Given the description of an element on the screen output the (x, y) to click on. 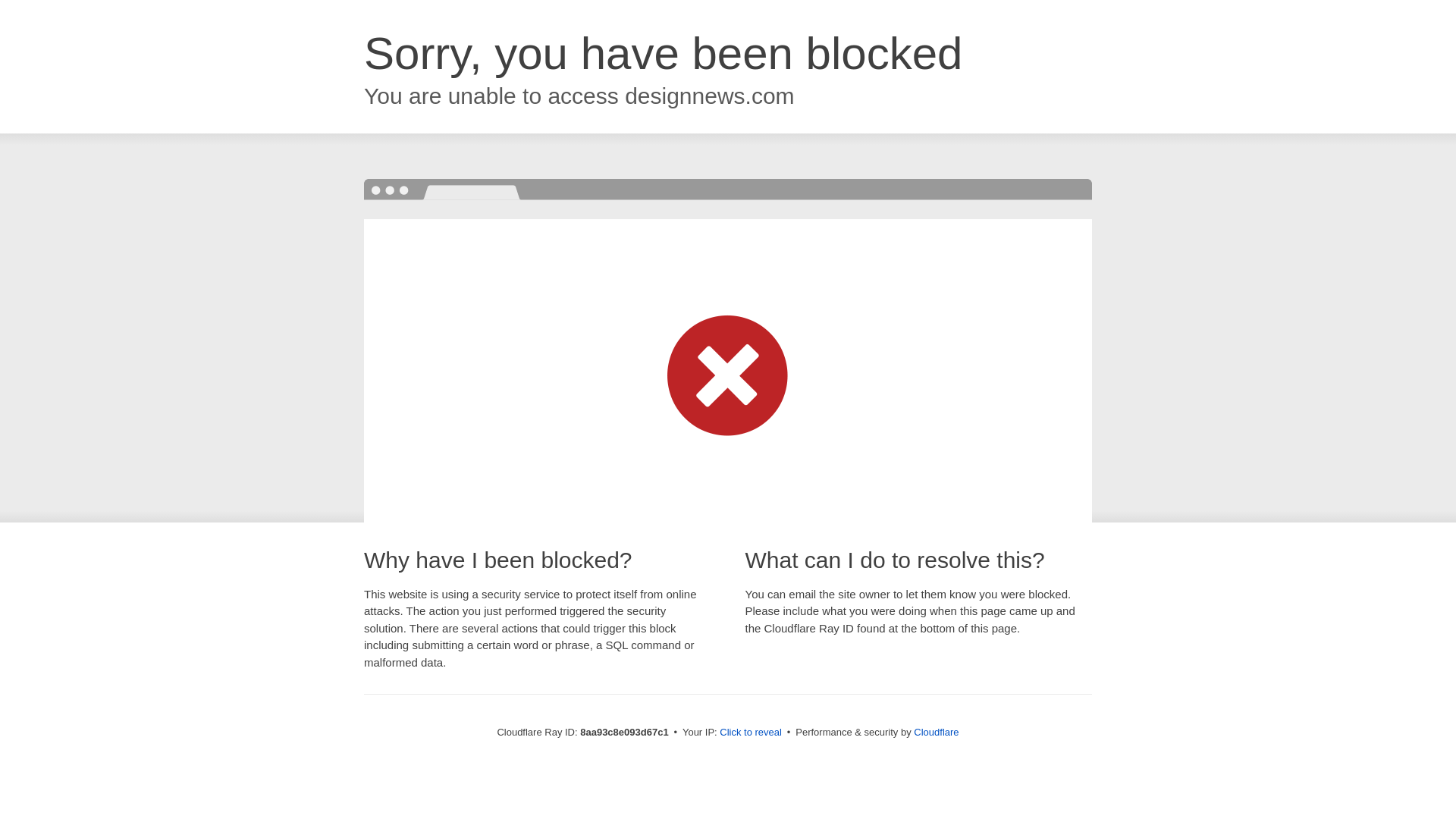
Cloudflare (936, 731)
Click to reveal (750, 732)
